Given the description of an element on the screen output the (x, y) to click on. 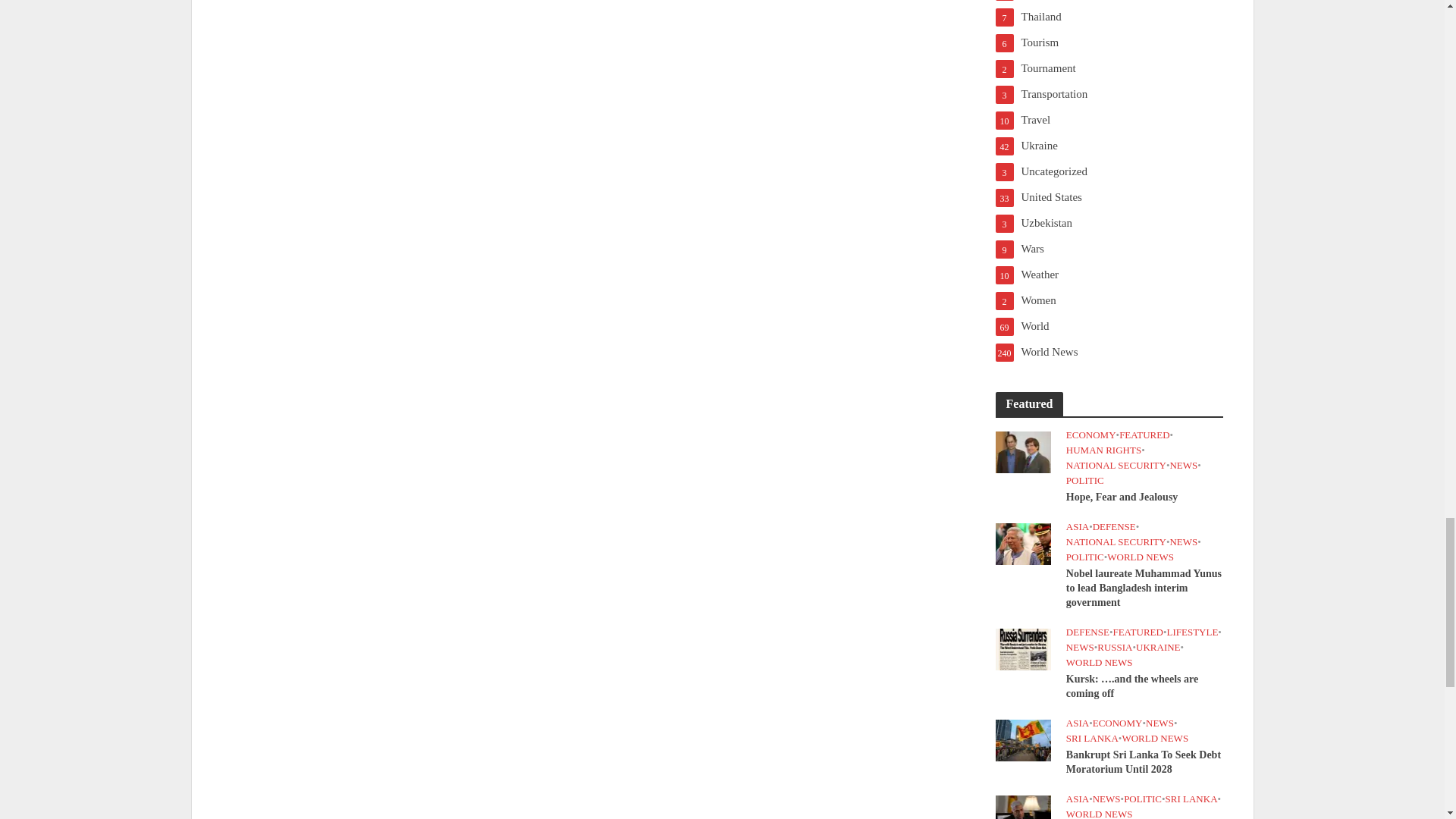
Hope, Fear and Jealousy (1021, 451)
Bankrupt Sri Lanka To Seek Debt Moratorium Until 2028 (1021, 739)
